Given the description of an element on the screen output the (x, y) to click on. 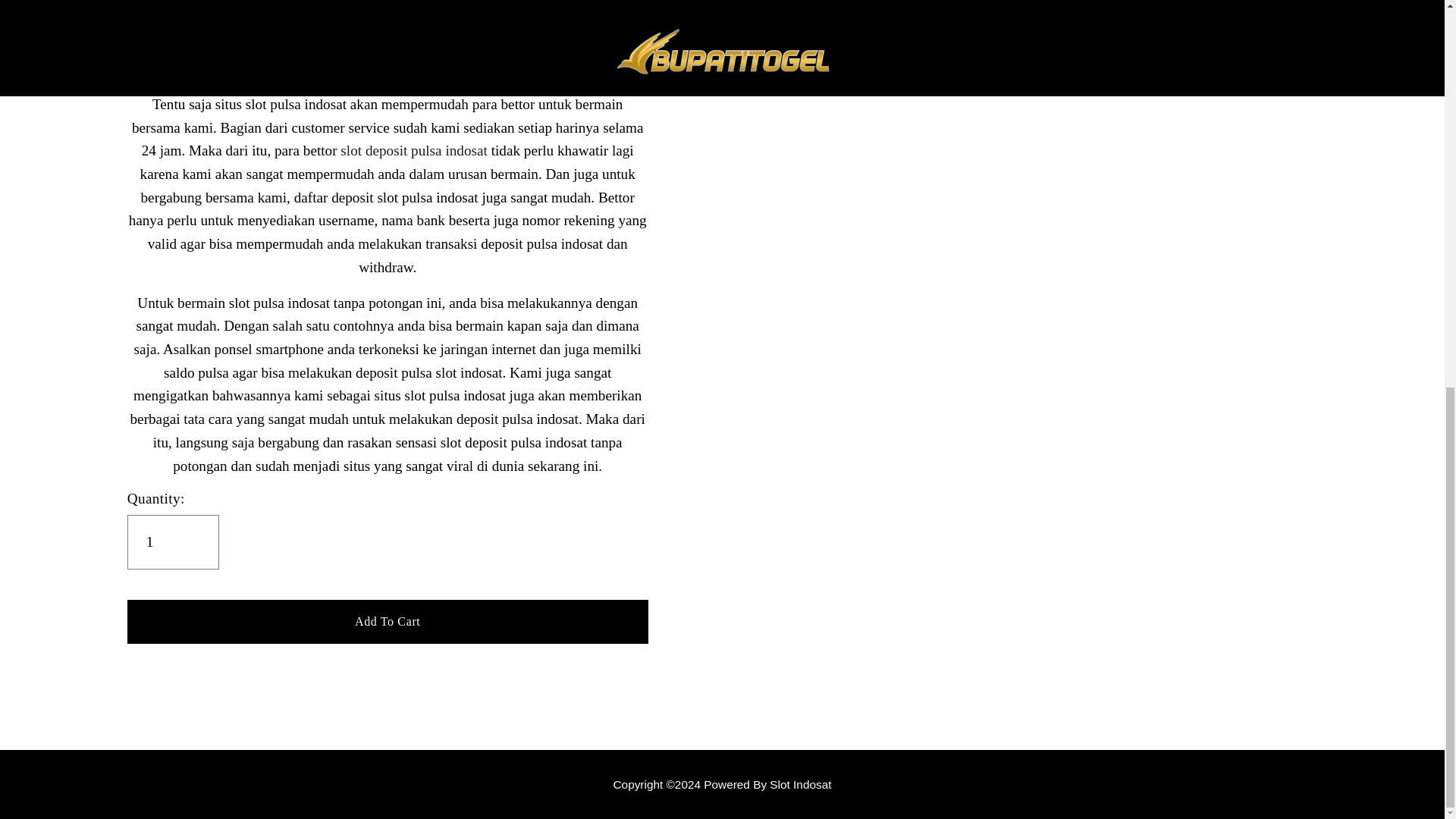
Slot Indosat (721, 784)
Add To Cart (387, 620)
1 (173, 542)
slot deposit pulsa indosat (413, 150)
